Given the description of an element on the screen output the (x, y) to click on. 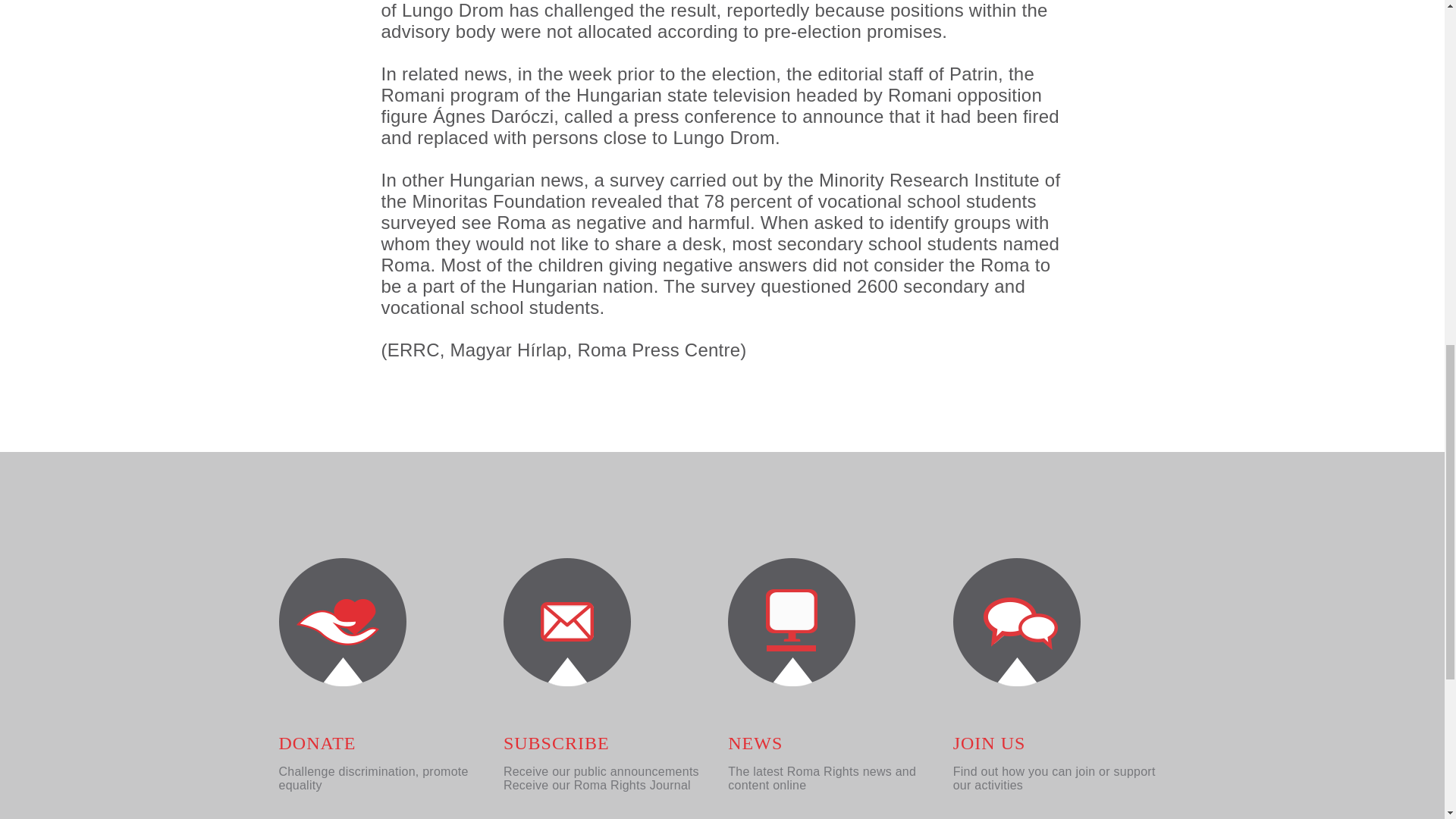
DONATE (317, 742)
SUBSCRIBE (556, 742)
NEWS (755, 742)
